Given the description of an element on the screen output the (x, y) to click on. 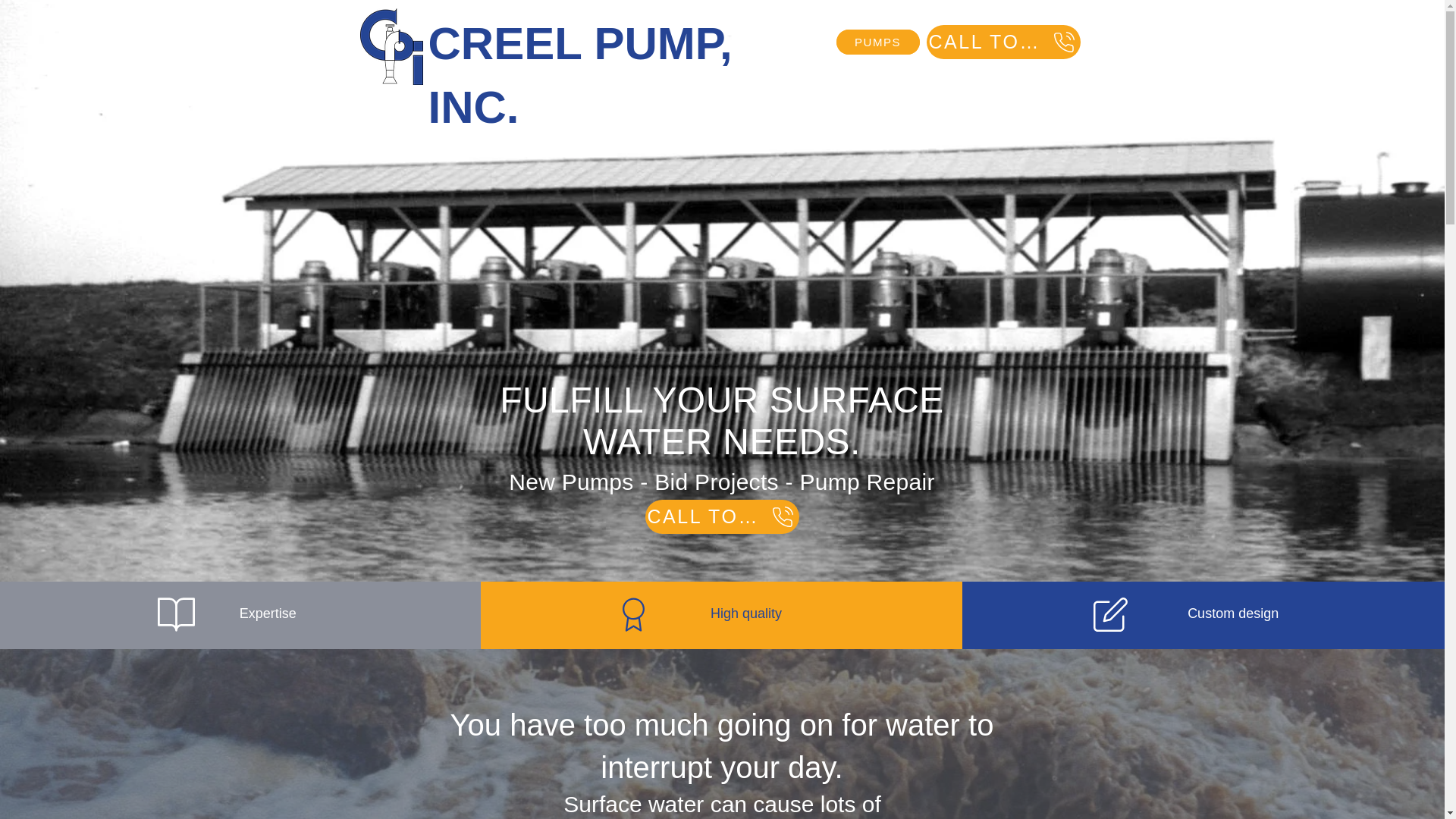
CALL TODAY! (1003, 41)
CREEL PUMP, INC. (580, 75)
CALL TODAY! (721, 516)
